Given the description of an element on the screen output the (x, y) to click on. 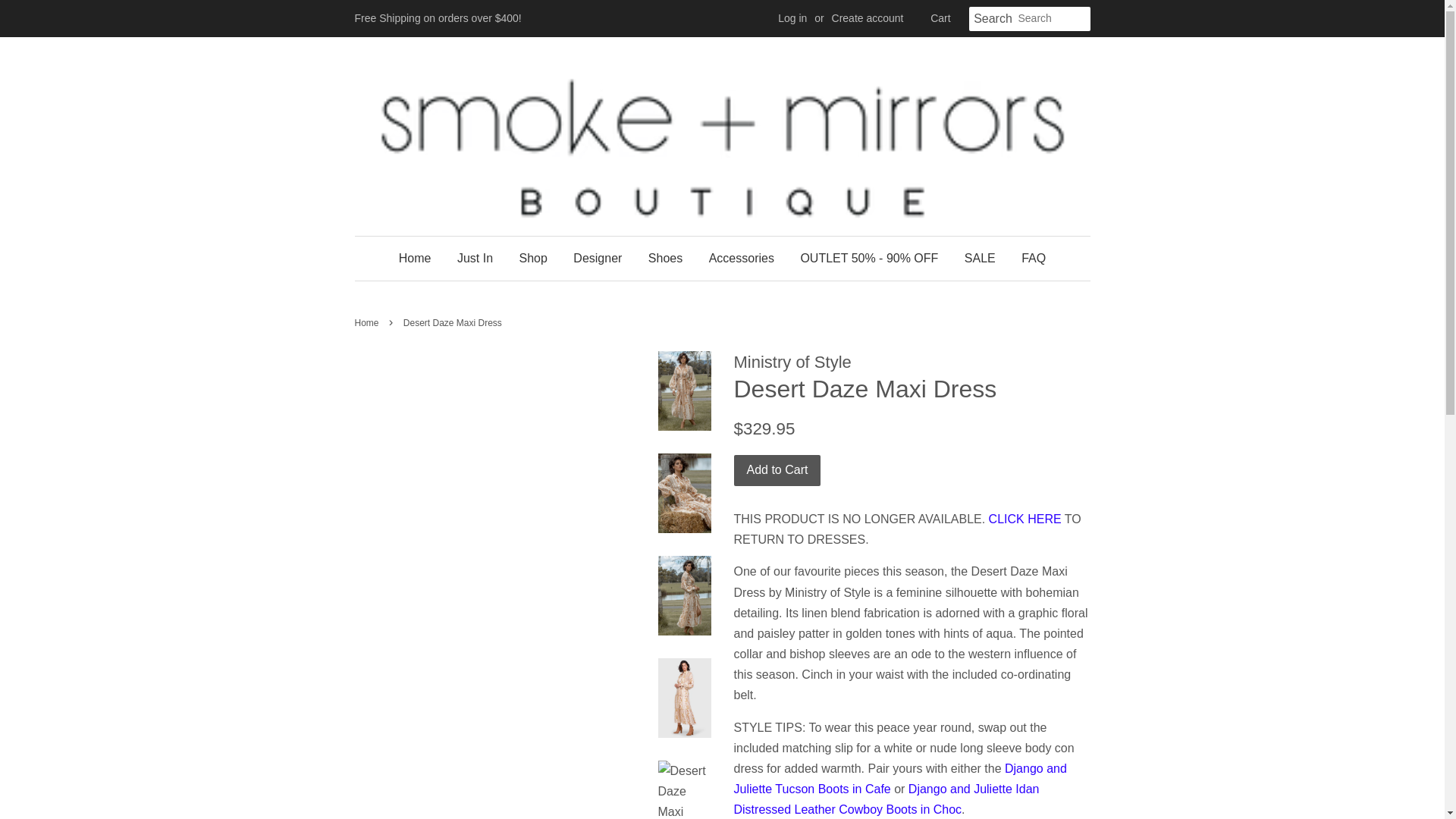
Search (993, 18)
Back to the frontpage (368, 322)
Create account (867, 18)
Log in (791, 18)
Cart (940, 18)
